Given the description of an element on the screen output the (x, y) to click on. 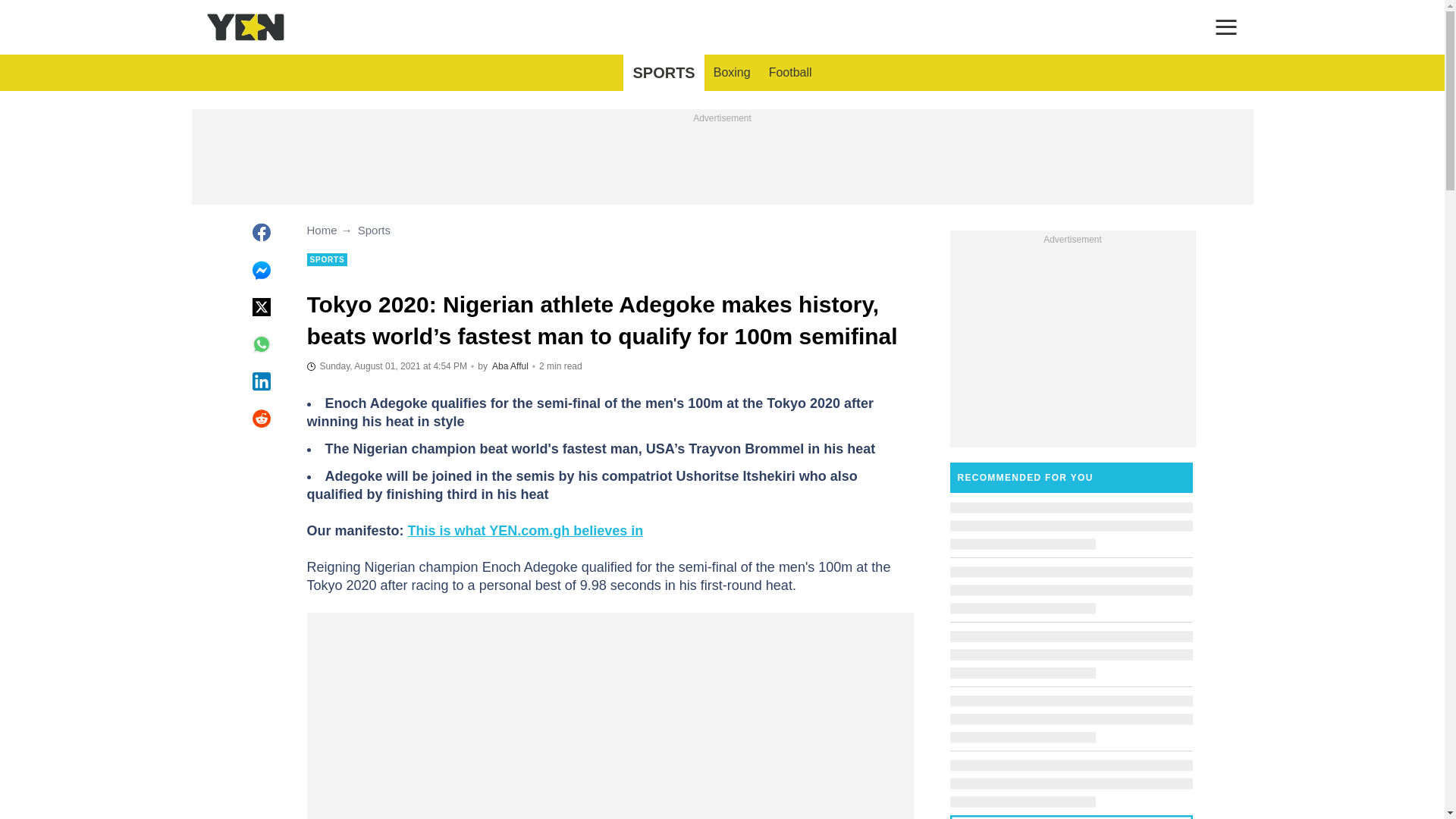
SPORTS (663, 72)
Boxing (732, 72)
2021-08-01T16:54:59Z (386, 366)
Author page (510, 366)
Football (790, 72)
